Given the description of an element on the screen output the (x, y) to click on. 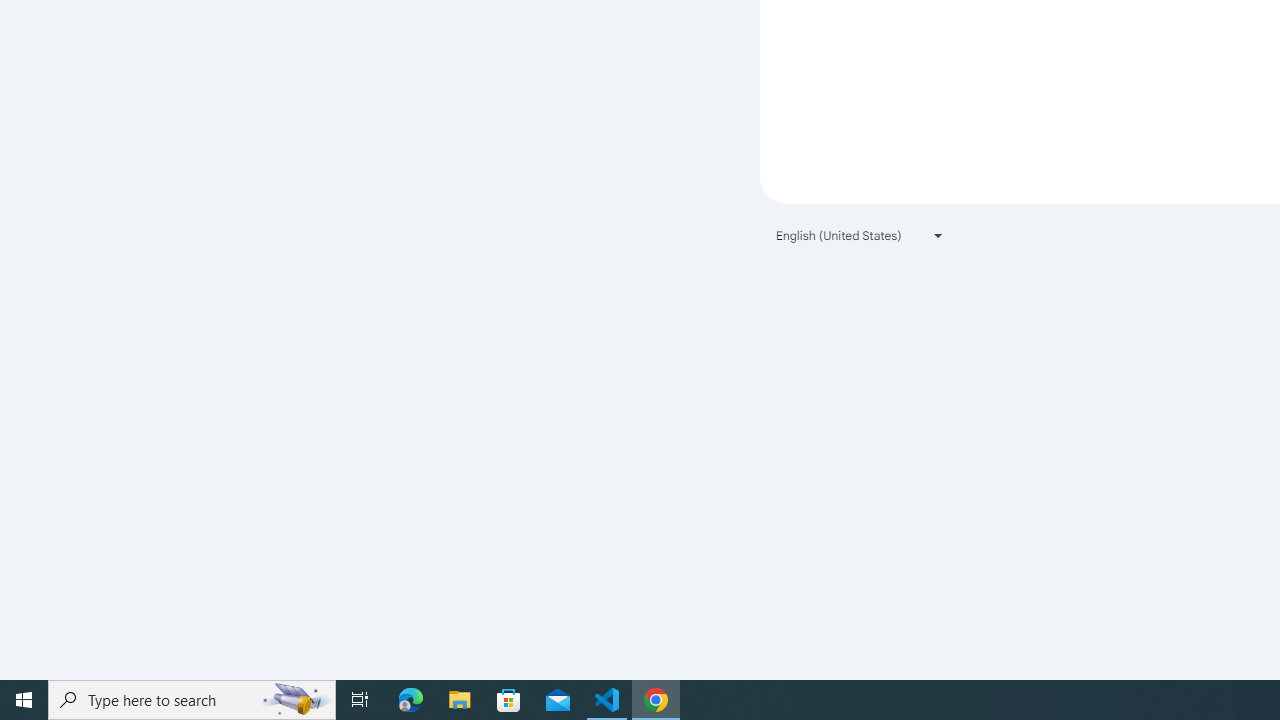
English (United States) (860, 234)
